Given the description of an element on the screen output the (x, y) to click on. 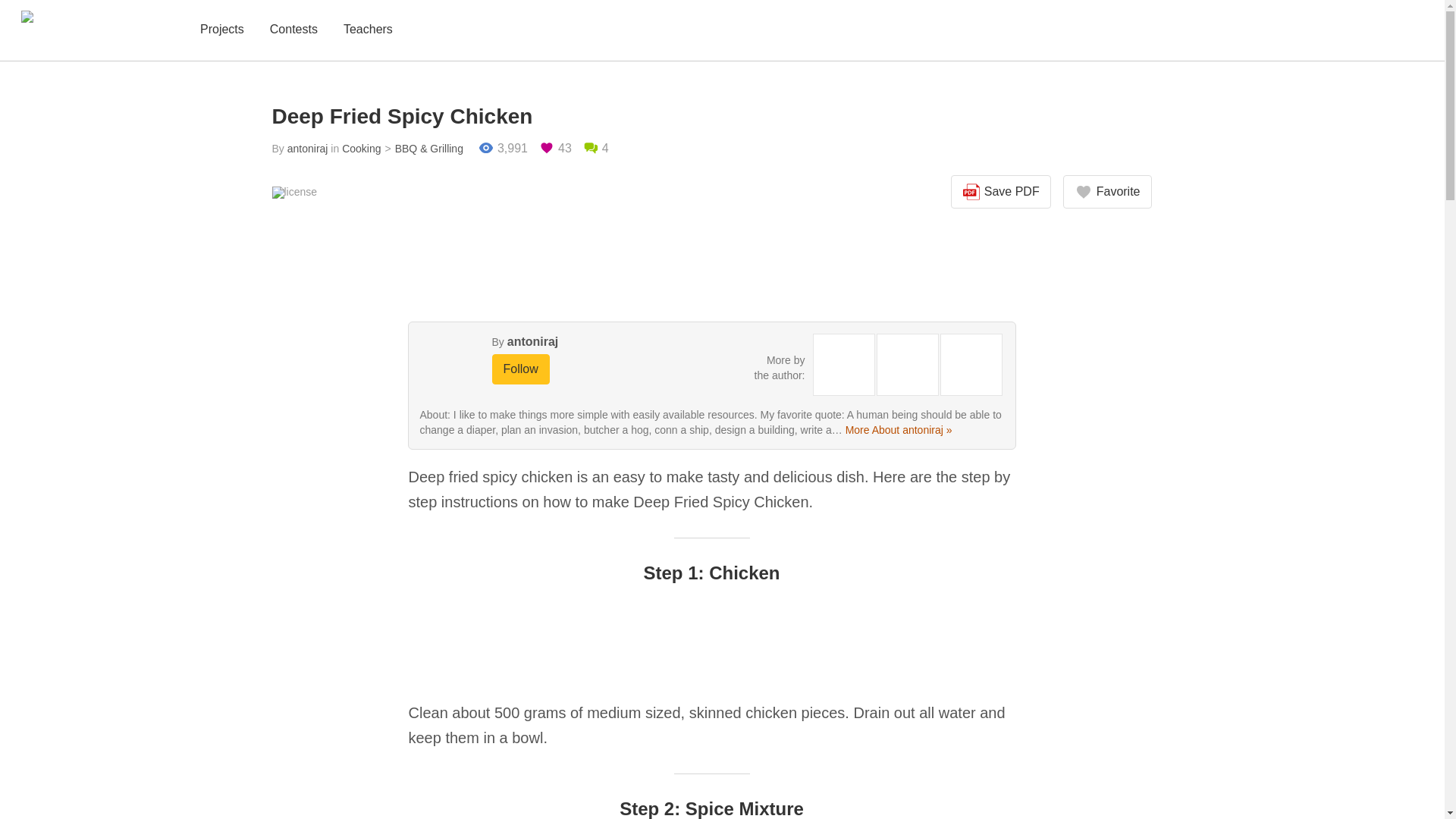
Contests (293, 30)
antoniraj (532, 341)
antoniraj (307, 148)
Follow (520, 368)
Teachers (368, 30)
Save PDF (1000, 191)
Favorite (1106, 191)
Projects (221, 30)
Cooking (361, 148)
4 (595, 148)
